Given the description of an element on the screen output the (x, y) to click on. 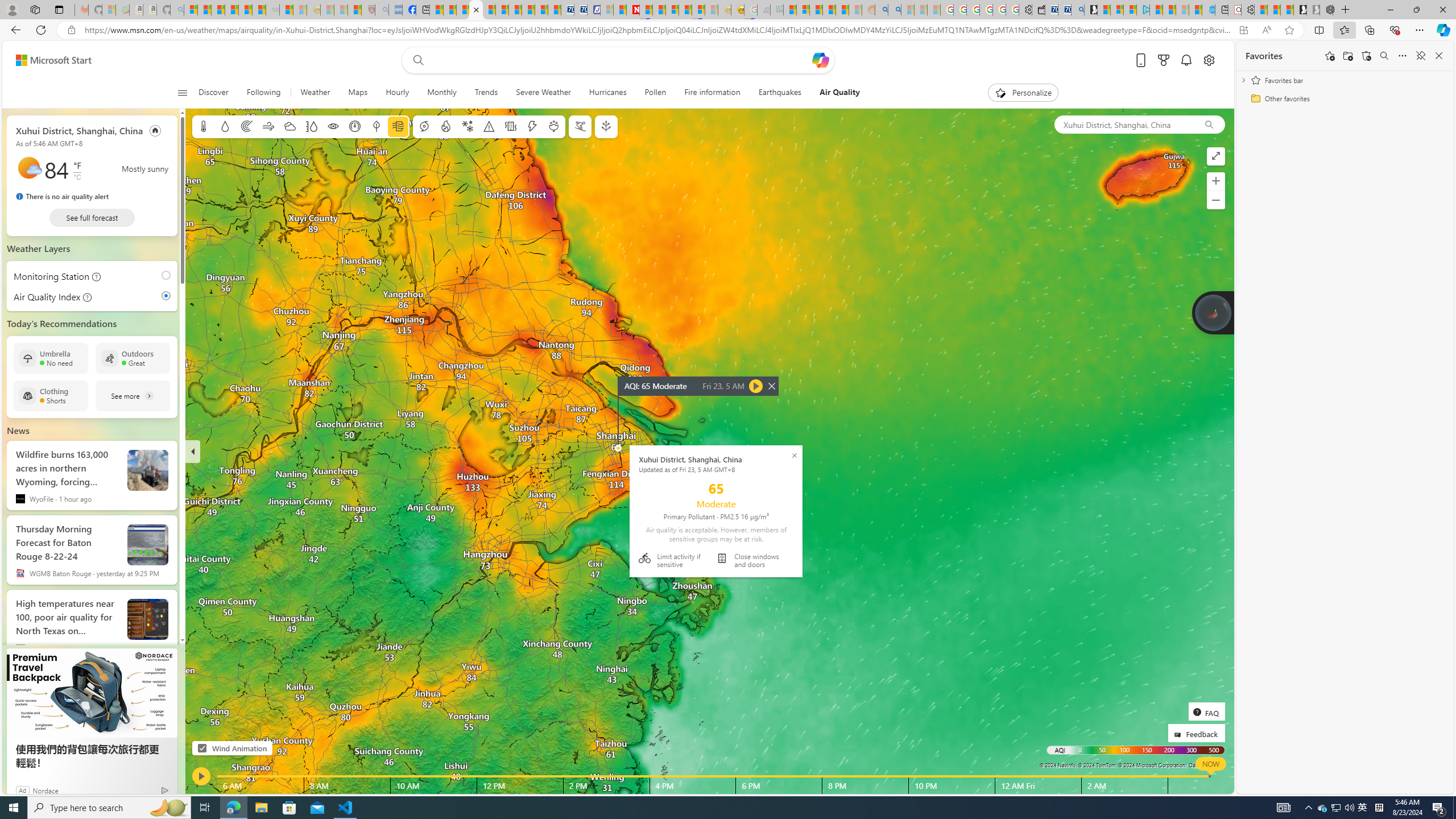
Air Quality (839, 92)
Lightning (532, 126)
Unpin favorites (1420, 55)
World - MSN (462, 9)
Hurricanes (607, 92)
Combat Siege - Sleeping (271, 9)
Nordace (45, 790)
Xuhui District, Shanghai, China (1123, 124)
